Given the description of an element on the screen output the (x, y) to click on. 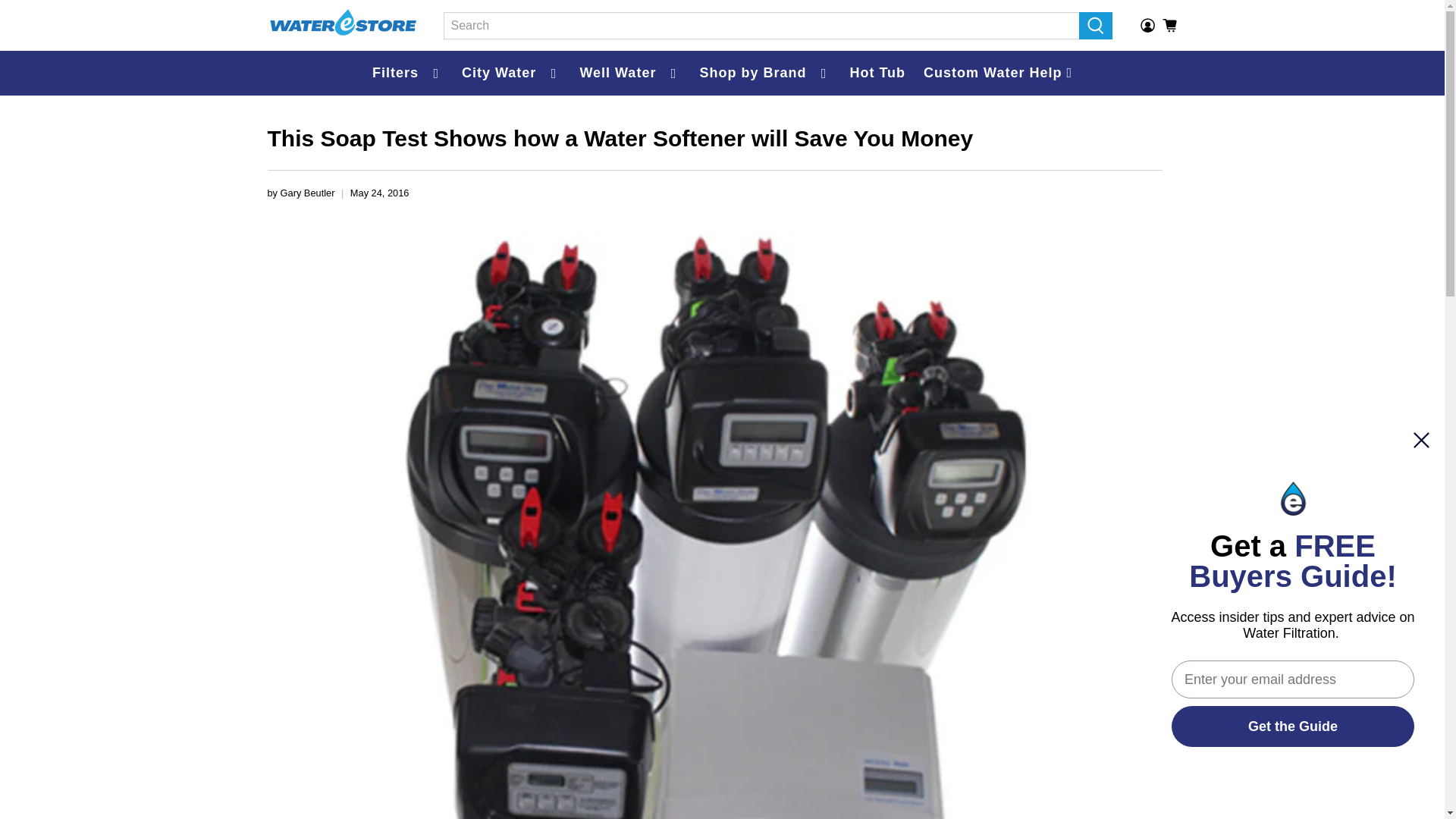
Close dialog 3 (1421, 440)
Water eStore CA (342, 25)
City Water (511, 72)
Well Water (630, 72)
Shop by Brand (765, 72)
Hot Tub (877, 72)
Filters (407, 72)
